Given the description of an element on the screen output the (x, y) to click on. 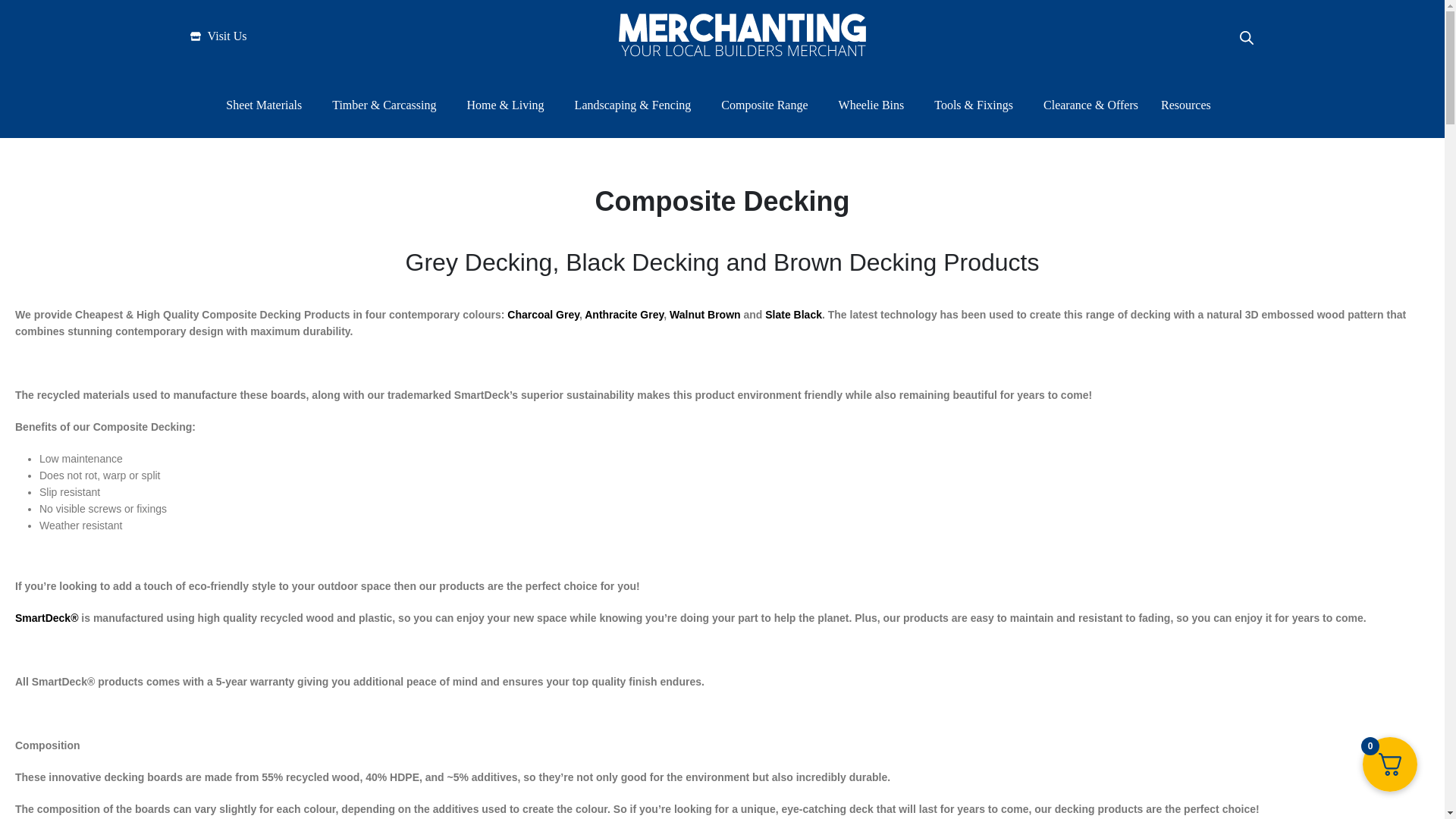
Sheet Materials (267, 104)
Visit Us (218, 36)
